Given the description of an element on the screen output the (x, y) to click on. 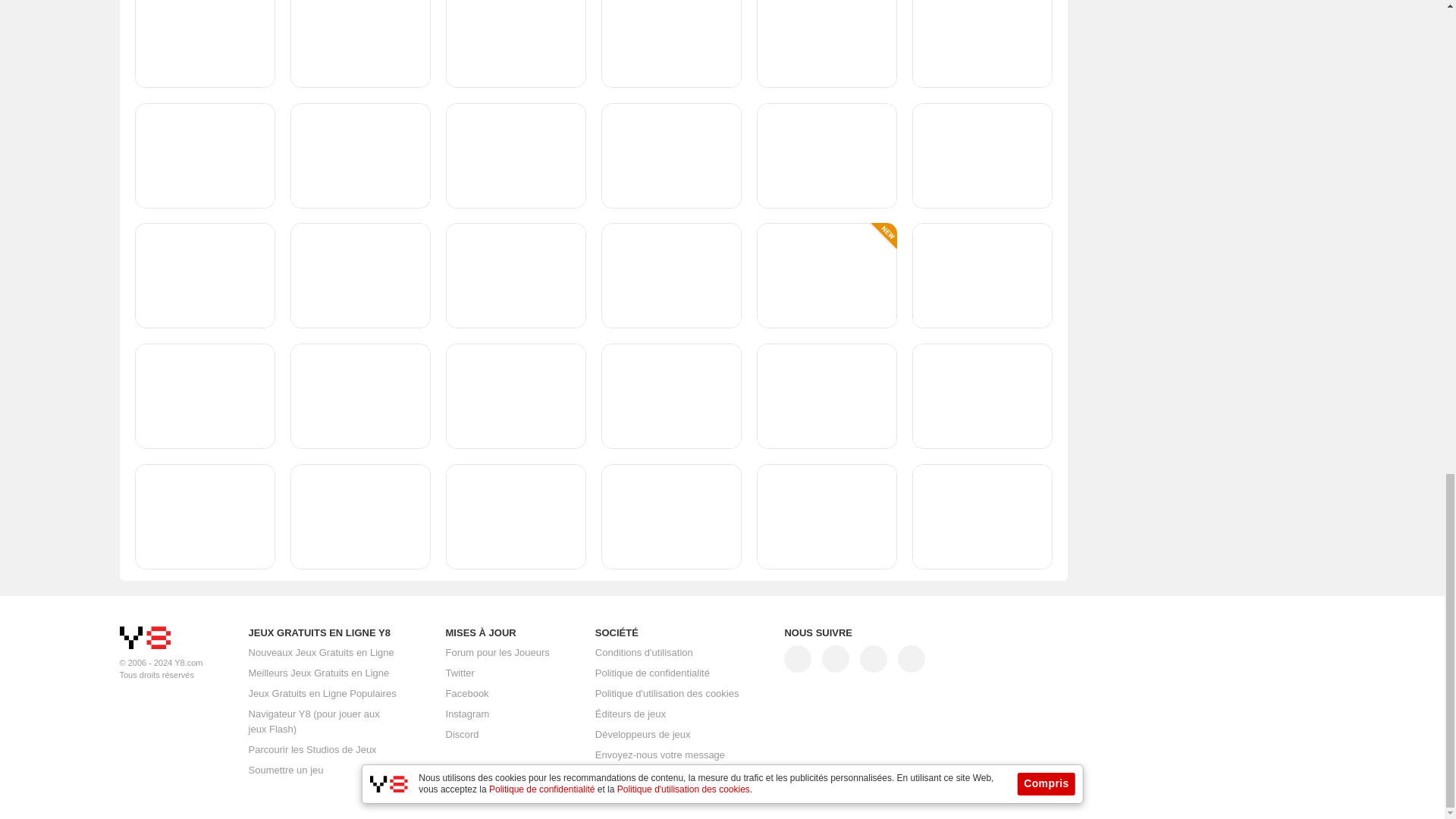
Politique d'utilisation des cookies (667, 693)
Conditions d'utilisation (644, 653)
